Given the description of an element on the screen output the (x, y) to click on. 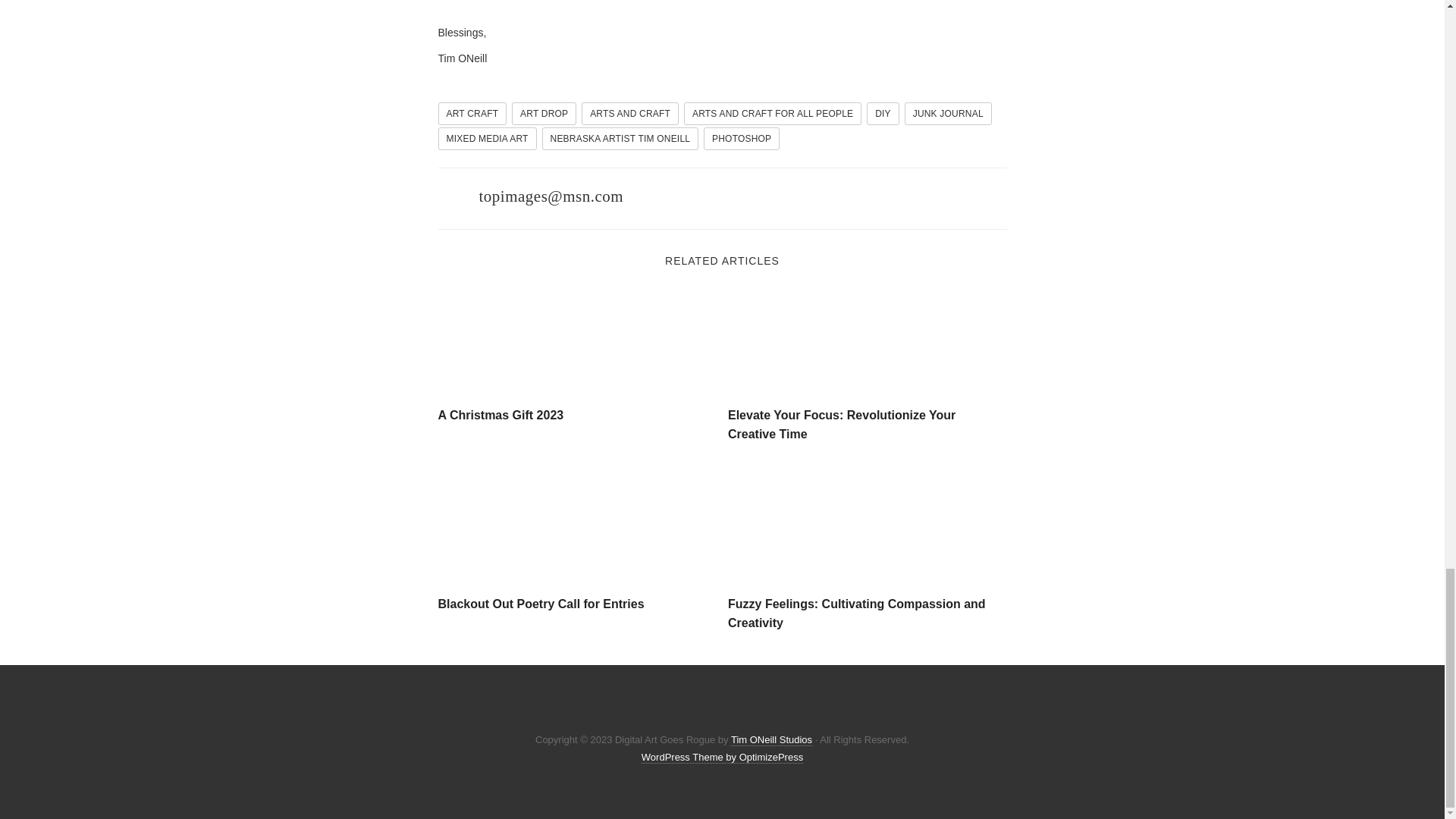
A Christmas Gift 2023 (501, 414)
WordPress Theme by OptimizePress (722, 757)
JUNK JOURNAL (947, 113)
NEBRASKA ARTIST TIM ONEILL (619, 138)
Mixed Media Art Tag (487, 138)
DIY (882, 113)
Elevate Your Focus: Revolutionize Your Creative Time (867, 338)
Tim ONeill Studios (771, 739)
photoshop Tag (740, 138)
arts and craft for all people Tag (772, 113)
Fuzzy Feelings: Cultivating Compassion and Creativity (867, 527)
ARTS AND CRAFT FOR ALL PEOPLE (772, 113)
Fuzzy Feelings: Cultivating Compassion and Creativity (856, 613)
DIY Tag (882, 113)
PHOTOSHOP (740, 138)
